Given the description of an element on the screen output the (x, y) to click on. 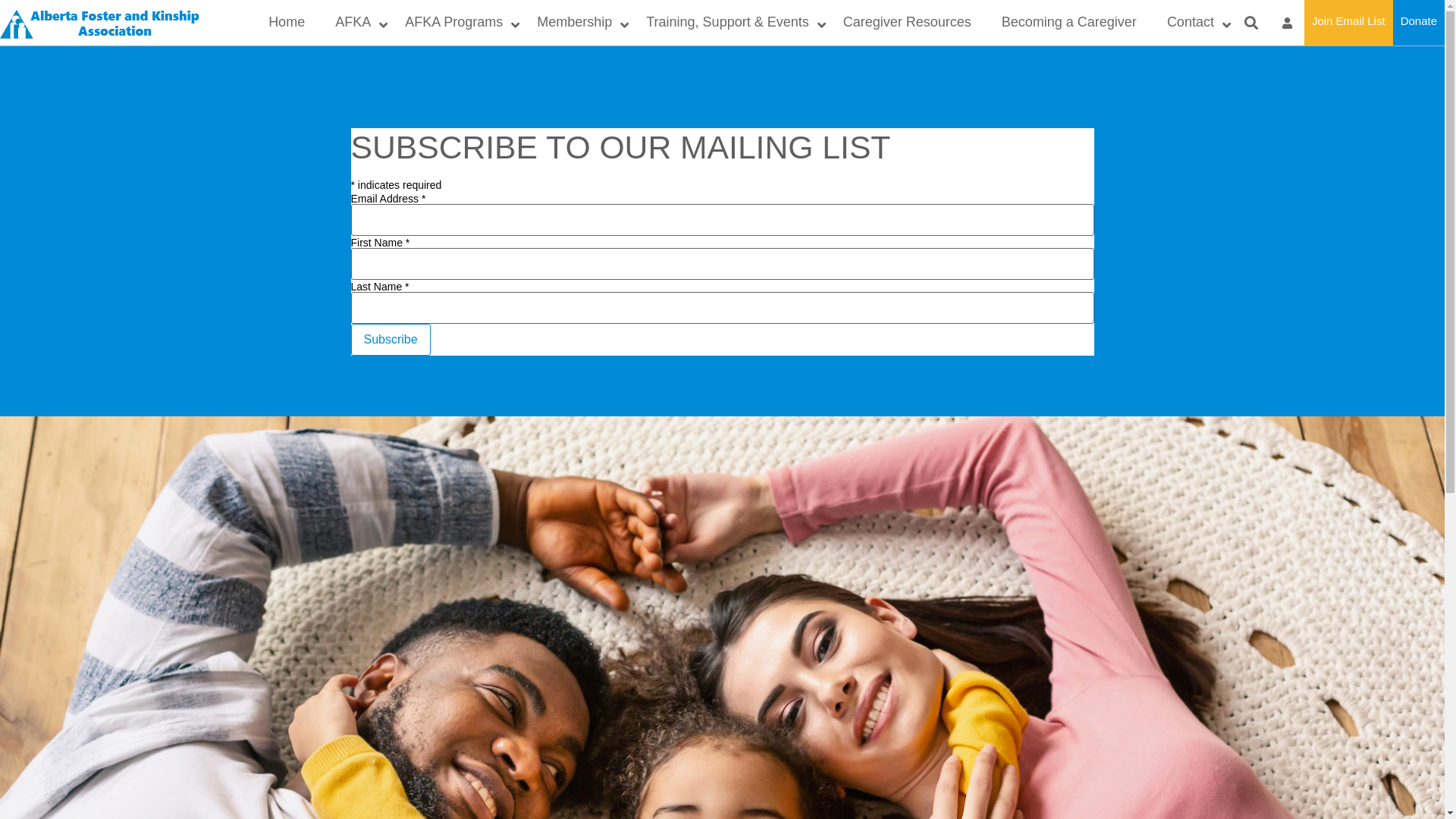
Membership Element type: text (575, 22)
Subscribe Element type: text (389, 339)
Becoming a Caregiver Element type: text (1068, 22)
Caregiver Resources Element type: text (907, 22)
Join Email List Element type: text (1348, 22)
Donate Element type: text (1418, 22)
Training, Support & Events Element type: text (728, 22)
AFKA Programs Element type: text (455, 22)
Contact Element type: text (1192, 22)
AFKA Element type: text (354, 22)
Home Element type: text (286, 22)
